Given the description of an element on the screen output the (x, y) to click on. 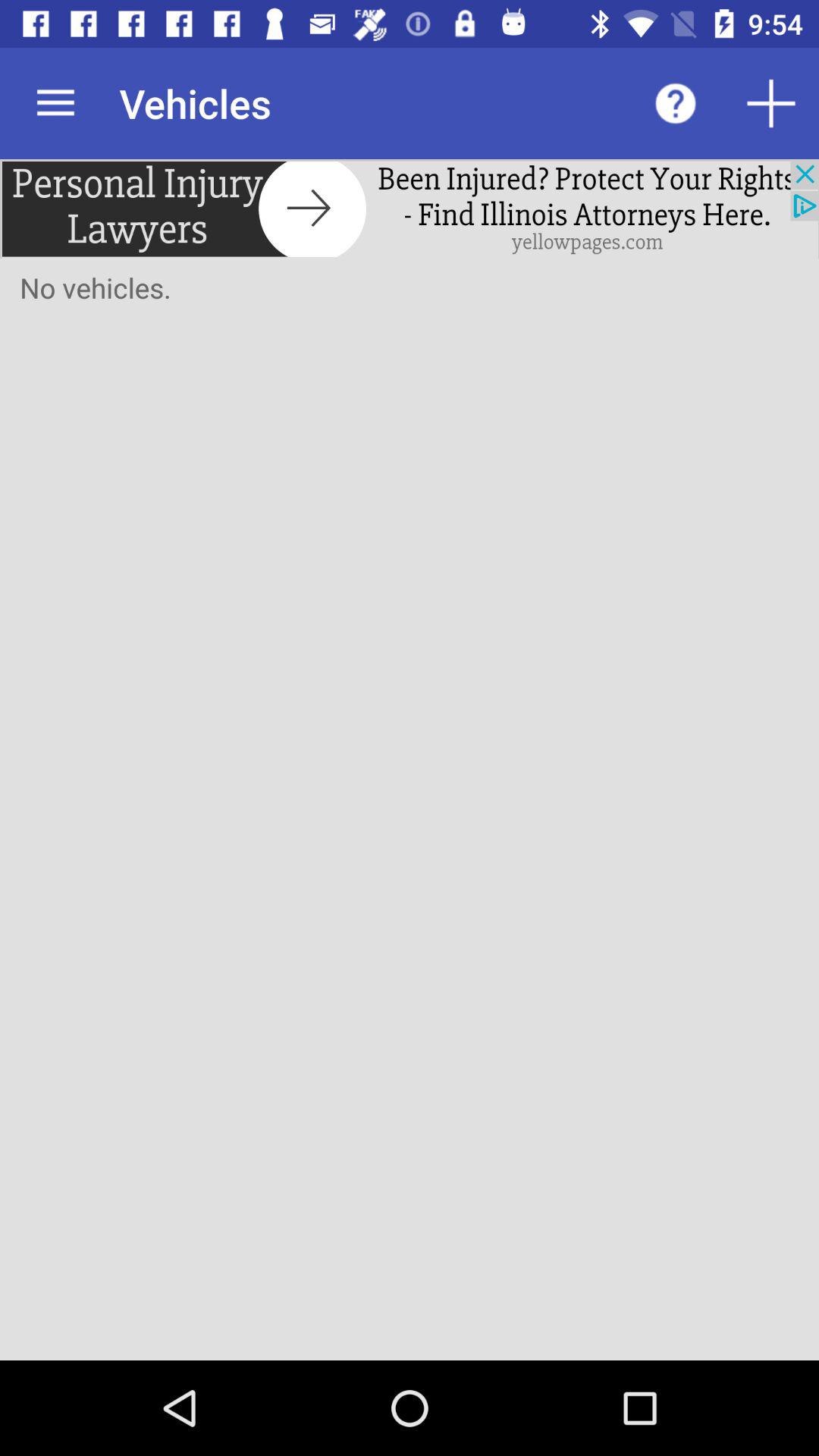
get help (675, 103)
